Given the description of an element on the screen output the (x, y) to click on. 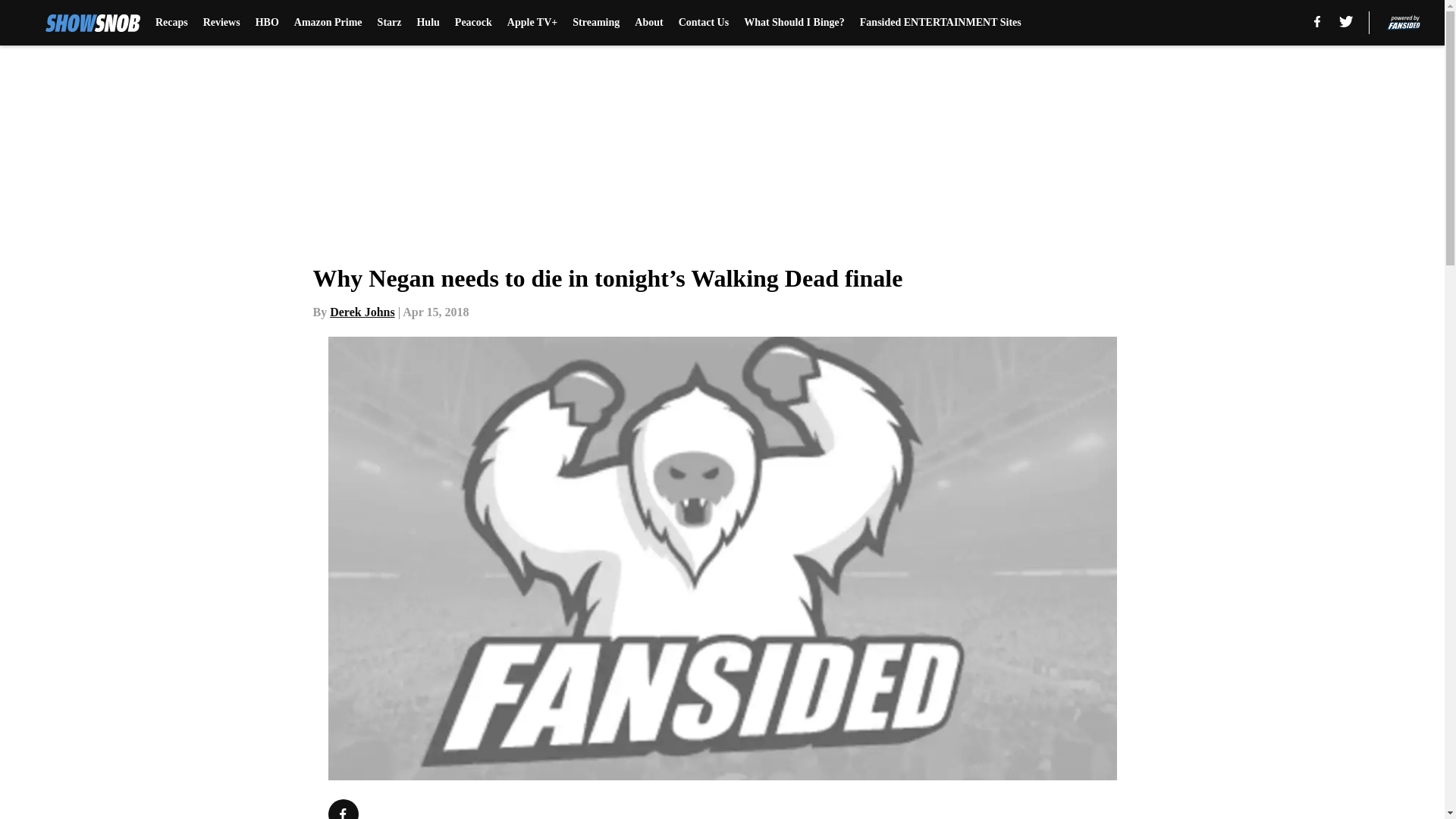
Contact Us (703, 22)
Amazon Prime (328, 22)
HBO (267, 22)
Recaps (171, 22)
About (648, 22)
Derek Johns (362, 311)
Starz (389, 22)
What Should I Binge? (794, 22)
Streaming (596, 22)
Hulu (427, 22)
Fansided ENTERTAINMENT Sites (941, 22)
Reviews (221, 22)
Peacock (473, 22)
